Given the description of an element on the screen output the (x, y) to click on. 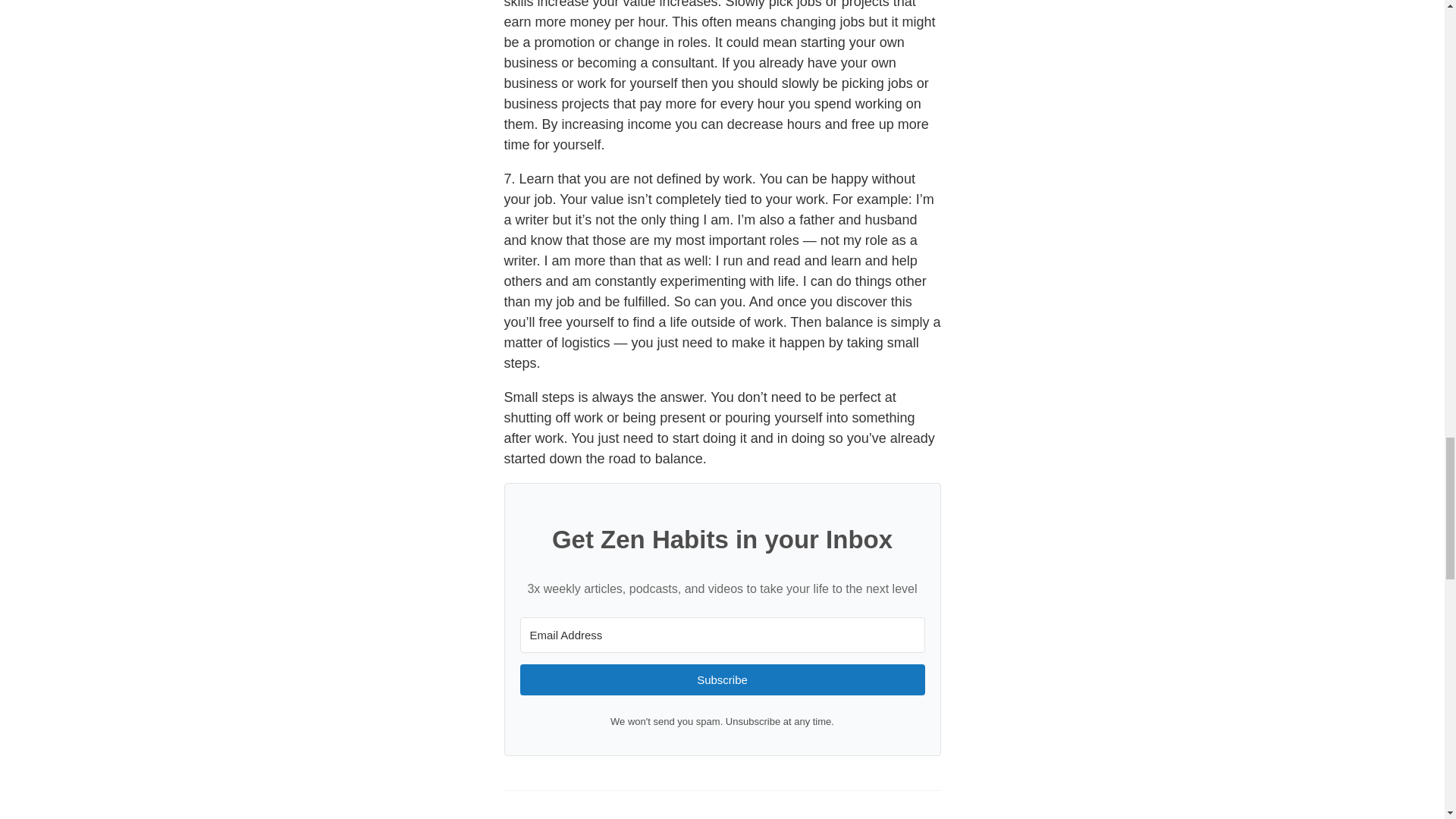
Subscribe (721, 679)
